Given the description of an element on the screen output the (x, y) to click on. 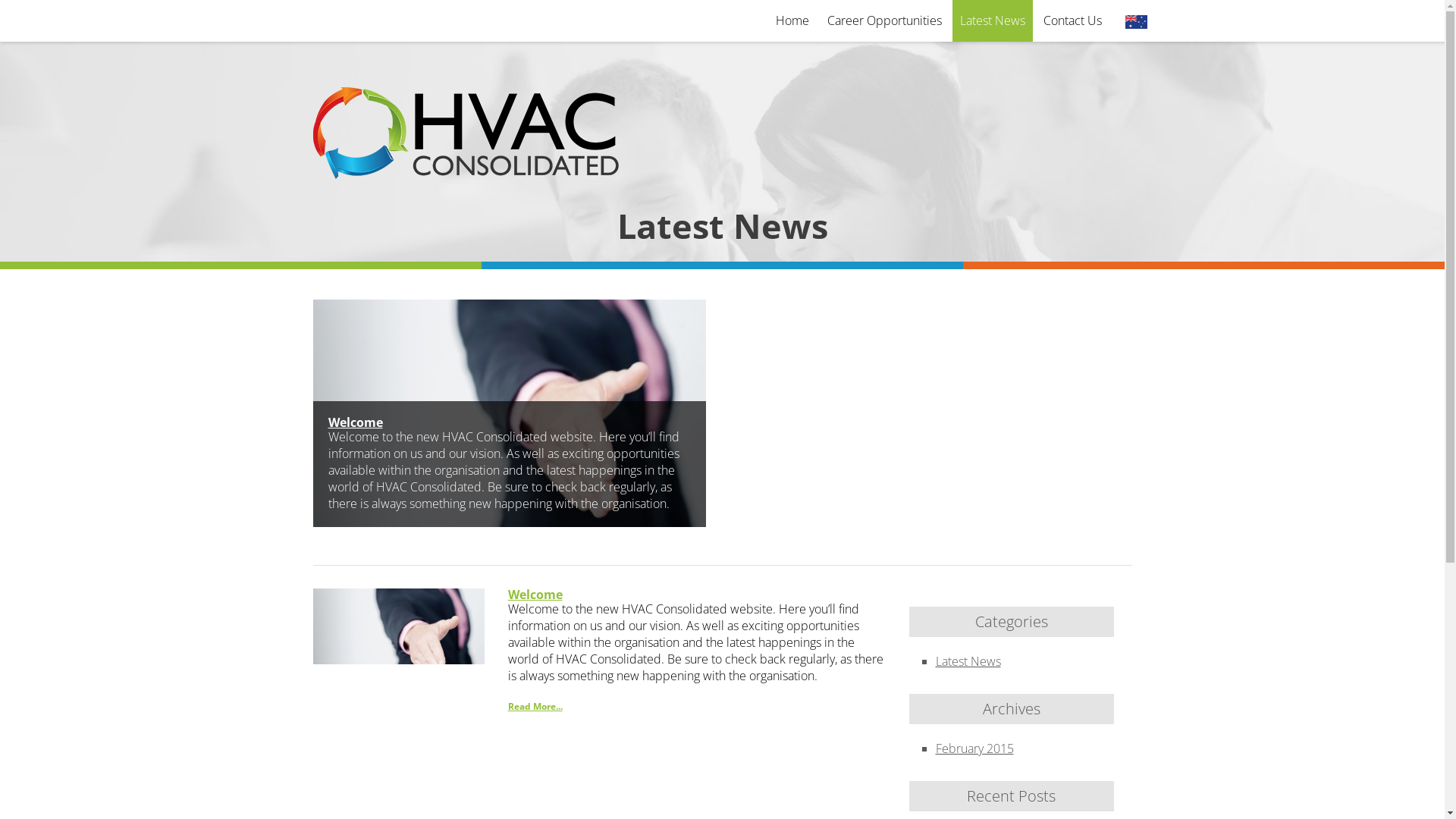
Welcome Element type: text (535, 594)
Home Element type: text (791, 20)
Latest News Element type: text (968, 660)
Contact Us Element type: text (1072, 20)
Career Opportunities Element type: text (883, 20)
Latest News Element type: text (992, 20)
Read More... Element type: text (535, 705)
Welcome Element type: text (354, 422)
February 2015 Element type: text (974, 748)
